Given the description of an element on the screen output the (x, y) to click on. 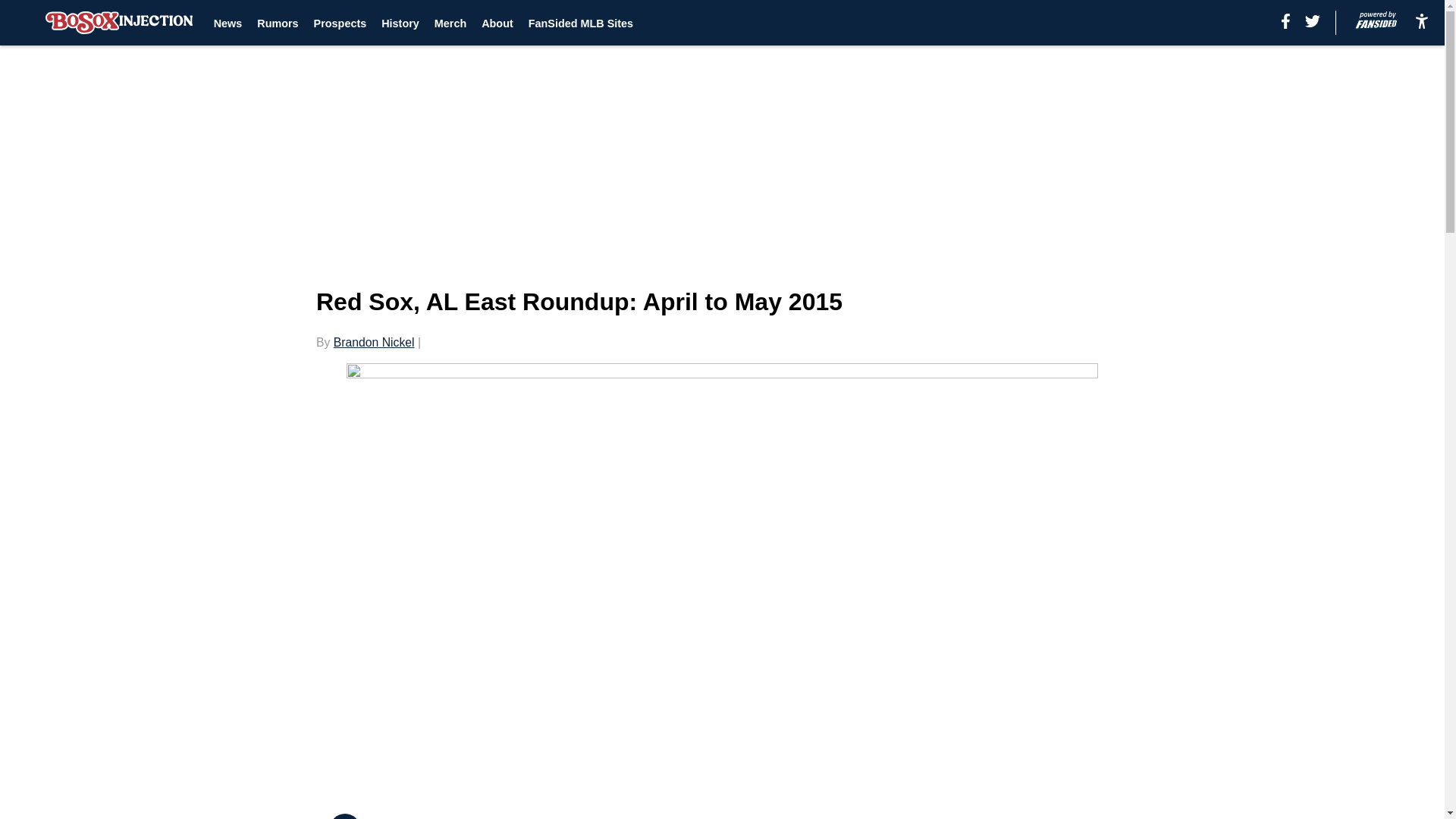
News (228, 23)
History (400, 23)
Merch (449, 23)
Rumors (277, 23)
About (497, 23)
Prospects (340, 23)
Brandon Nickel (373, 341)
FanSided MLB Sites (580, 23)
